Given the description of an element on the screen output the (x, y) to click on. 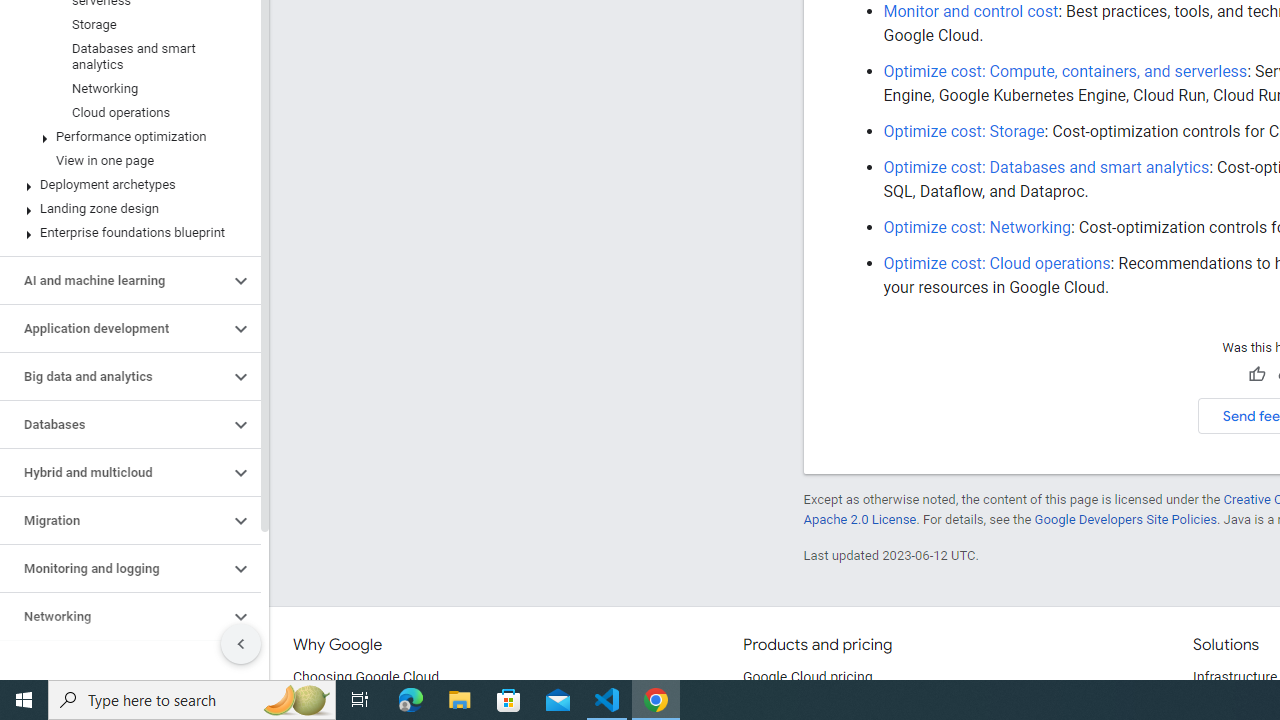
Google Cloud pricing (807, 677)
Databases (114, 425)
Networking (126, 88)
Landing zone design (126, 209)
Reliability and disaster recovery (114, 664)
Networking (114, 616)
AI and machine learning (114, 281)
Optimize cost: Compute, containers, and serverless (1065, 70)
Choosing Google Cloud (366, 677)
Application development (114, 328)
Performance optimization (126, 137)
Optimize cost: Storage (963, 131)
Databases and smart analytics (126, 56)
Hybrid and multicloud (114, 472)
Enterprise foundations blueprint (126, 232)
